Given the description of an element on the screen output the (x, y) to click on. 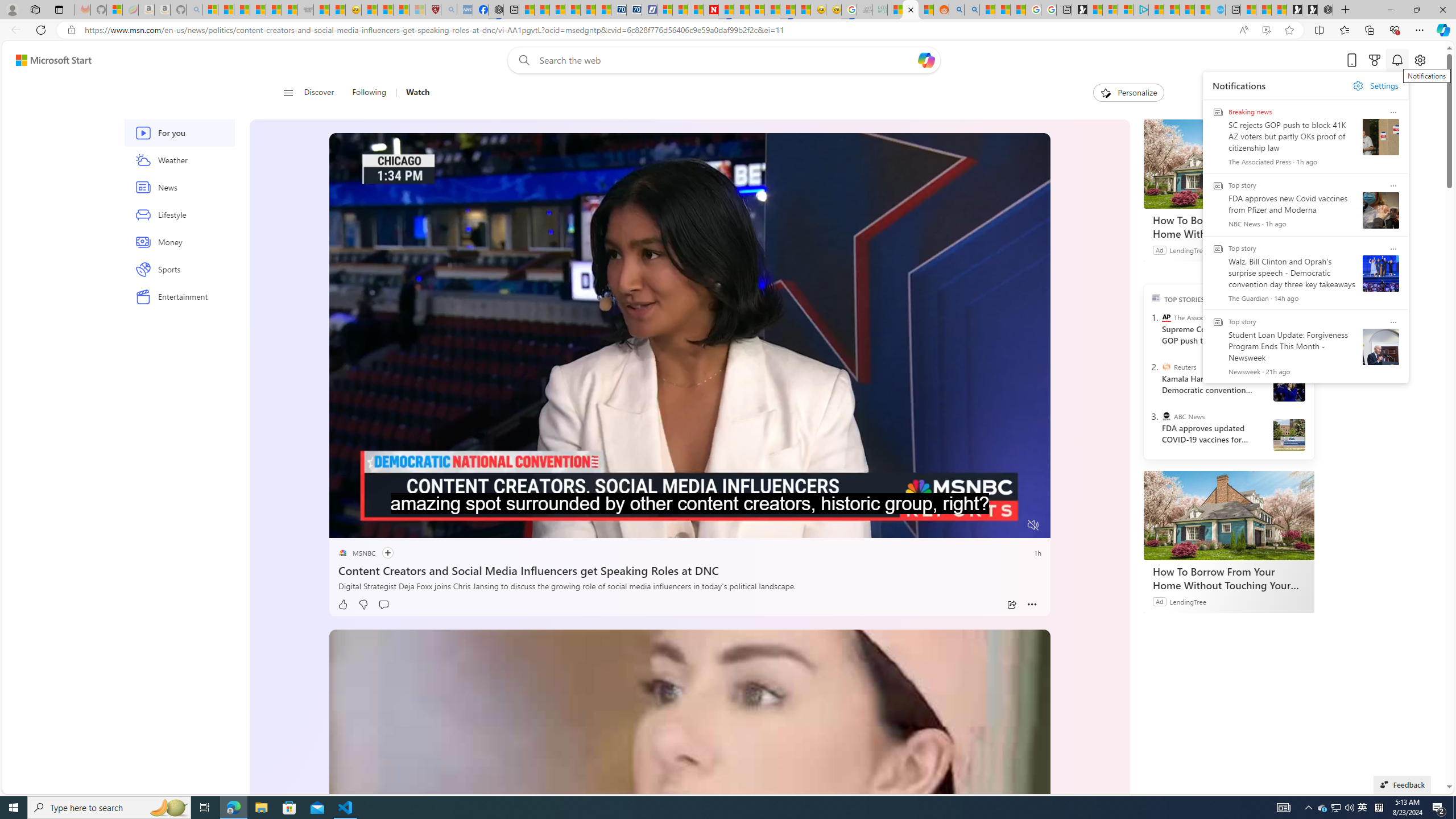
Unmute (1033, 524)
placeholder MSNBC (356, 552)
12 Popular Science Lies that Must be Corrected - Sleeping (416, 9)
Fullscreen (1011, 525)
Microsoft rewards (1374, 60)
Web search (520, 60)
Robert H. Shmerling, MD - Harvard Health (432, 9)
